Given the description of an element on the screen output the (x, y) to click on. 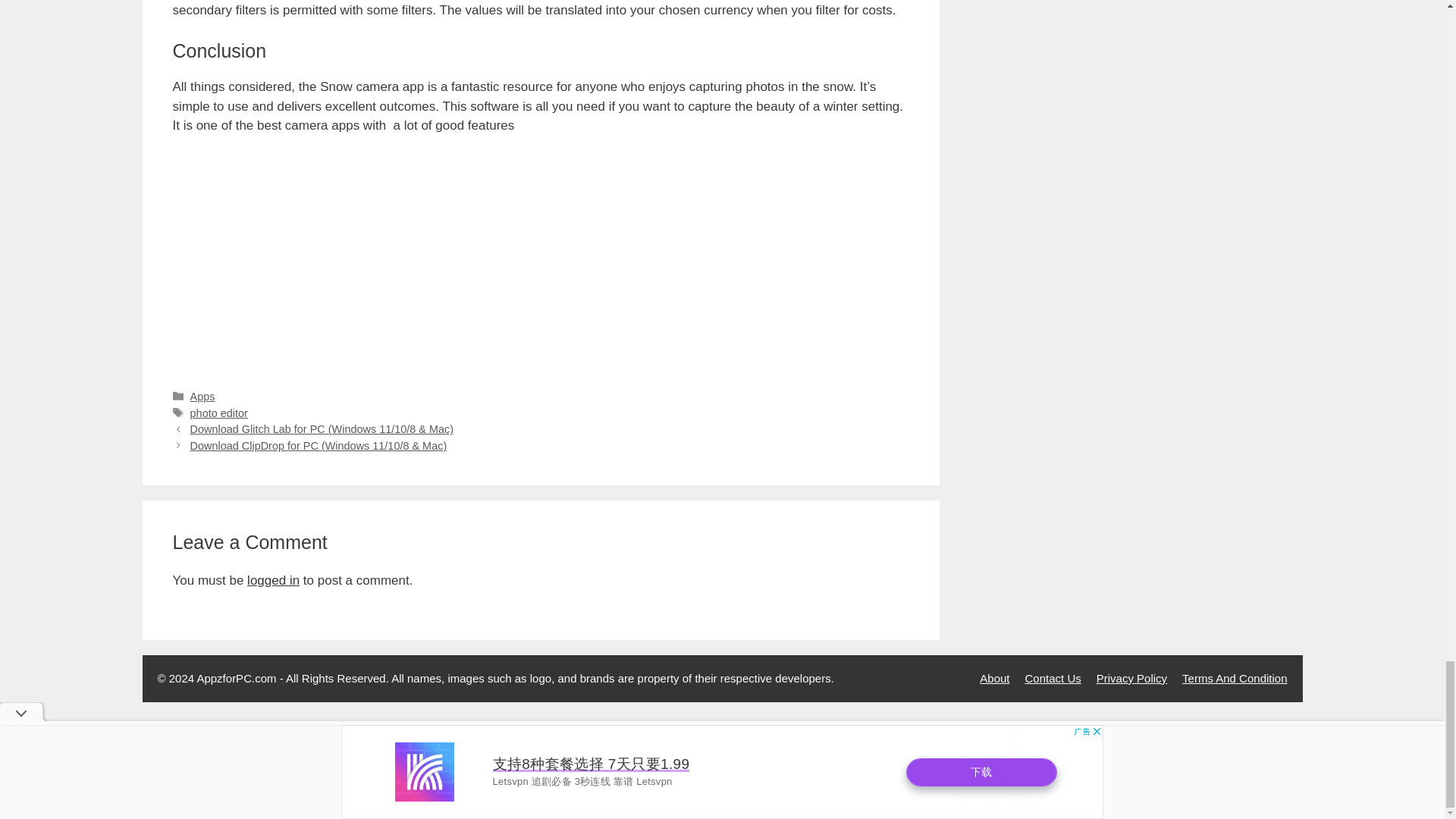
About (994, 677)
Apps (202, 396)
Contact Us (1053, 677)
Privacy Policy (1131, 677)
logged in (273, 580)
photo editor (218, 413)
